Given the description of an element on the screen output the (x, y) to click on. 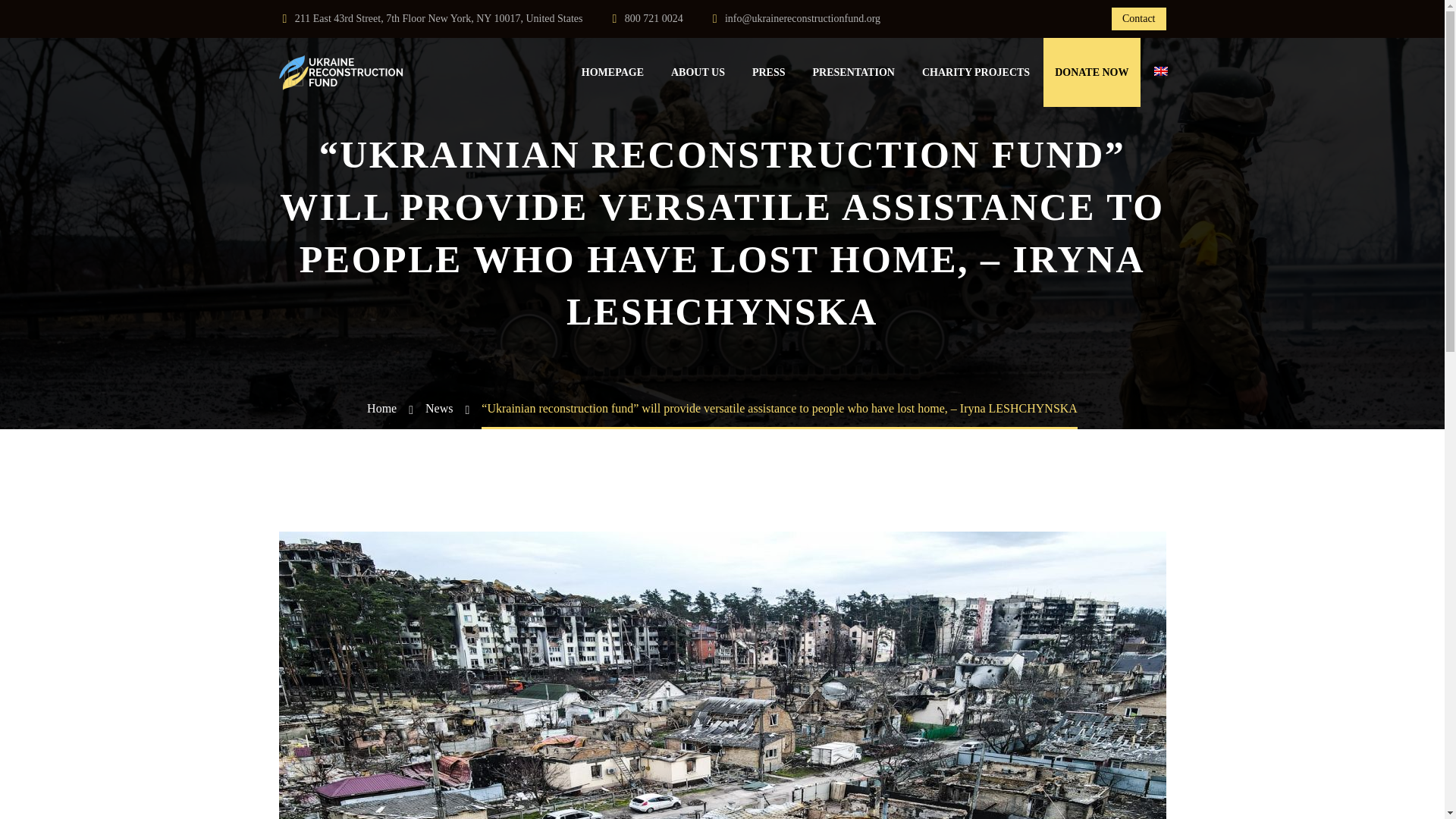
Home (381, 408)
PRESS (768, 72)
Contact (1139, 18)
PRESENTATION (853, 72)
News (438, 408)
DONATE NOW (1091, 72)
CHARITY PROJECTS (976, 72)
ABOUT US (697, 72)
HOMEPAGE (612, 72)
800 721 0024 (653, 18)
